Given the description of an element on the screen output the (x, y) to click on. 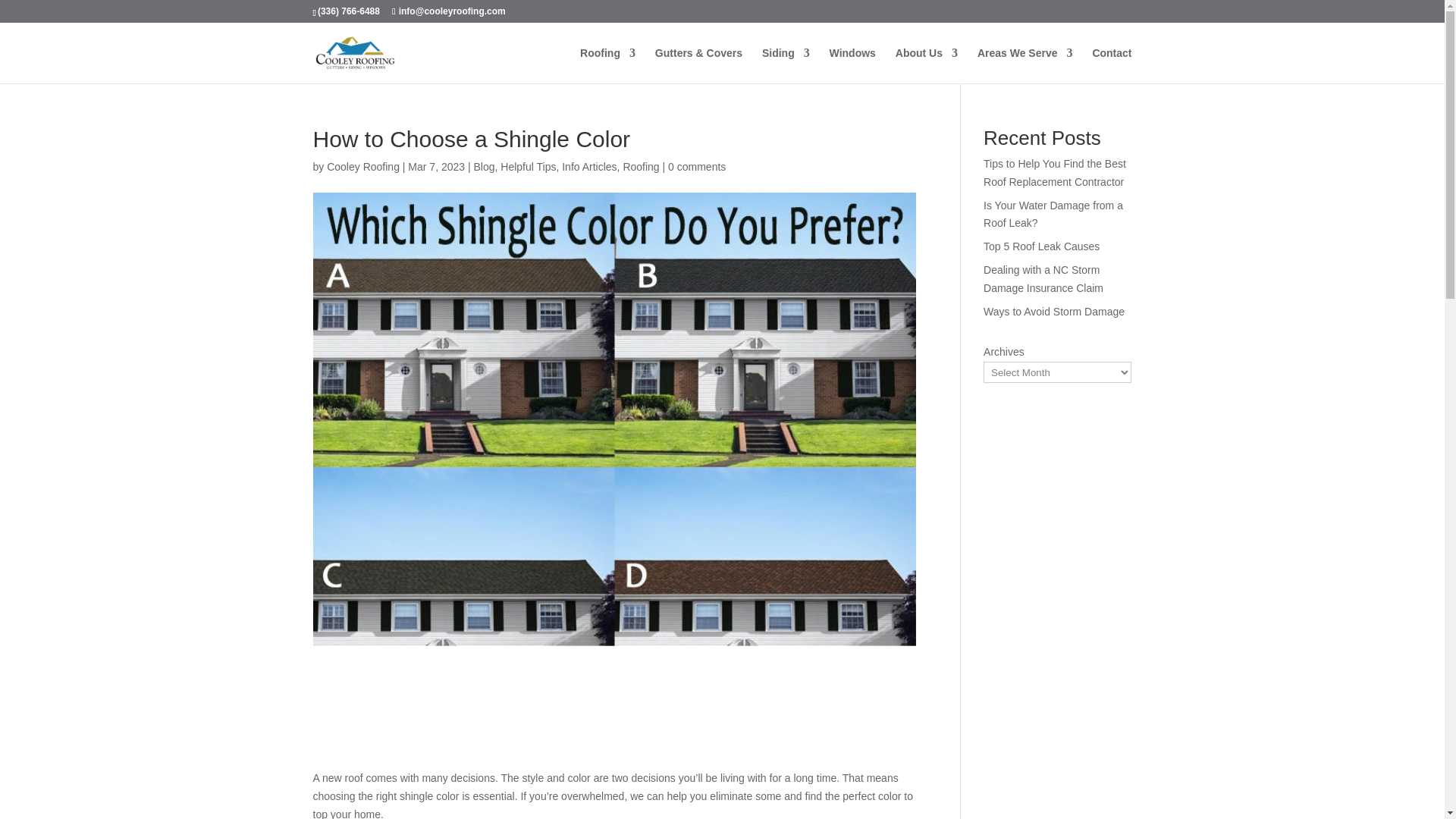
Roofing (641, 166)
Areas We Serve (1024, 65)
Cooley Roofing (362, 166)
Helpful Tips (528, 166)
Windows (852, 65)
About Us (926, 65)
Is Your Water Damage from a Roof Leak? (1053, 214)
Siding (785, 65)
Contact (1111, 65)
Roofing (606, 65)
